Given the description of an element on the screen output the (x, y) to click on. 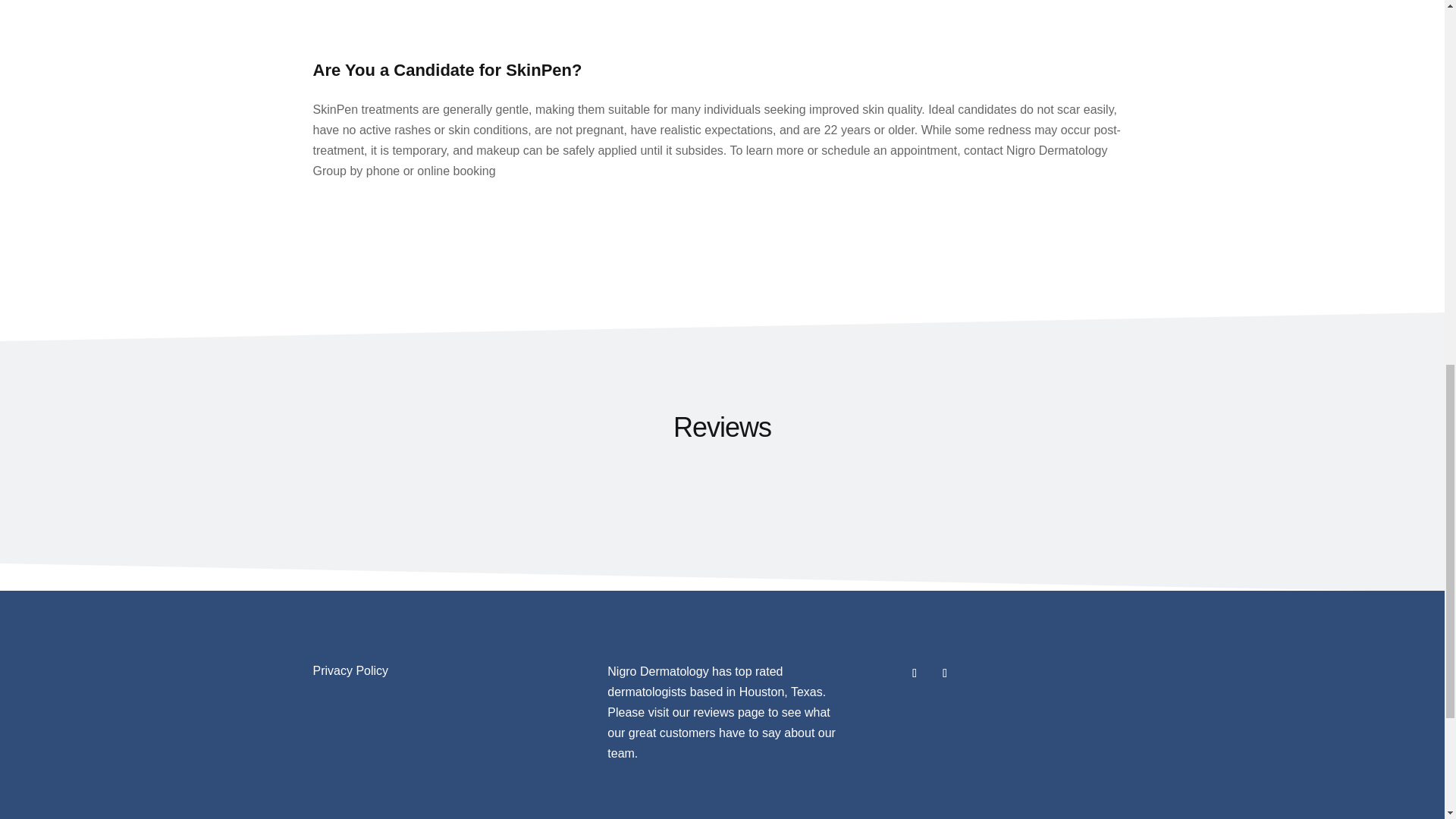
See Reviews (728, 712)
Follow on Facebook (914, 672)
Follow on Instagram (944, 672)
